Given the description of an element on the screen output the (x, y) to click on. 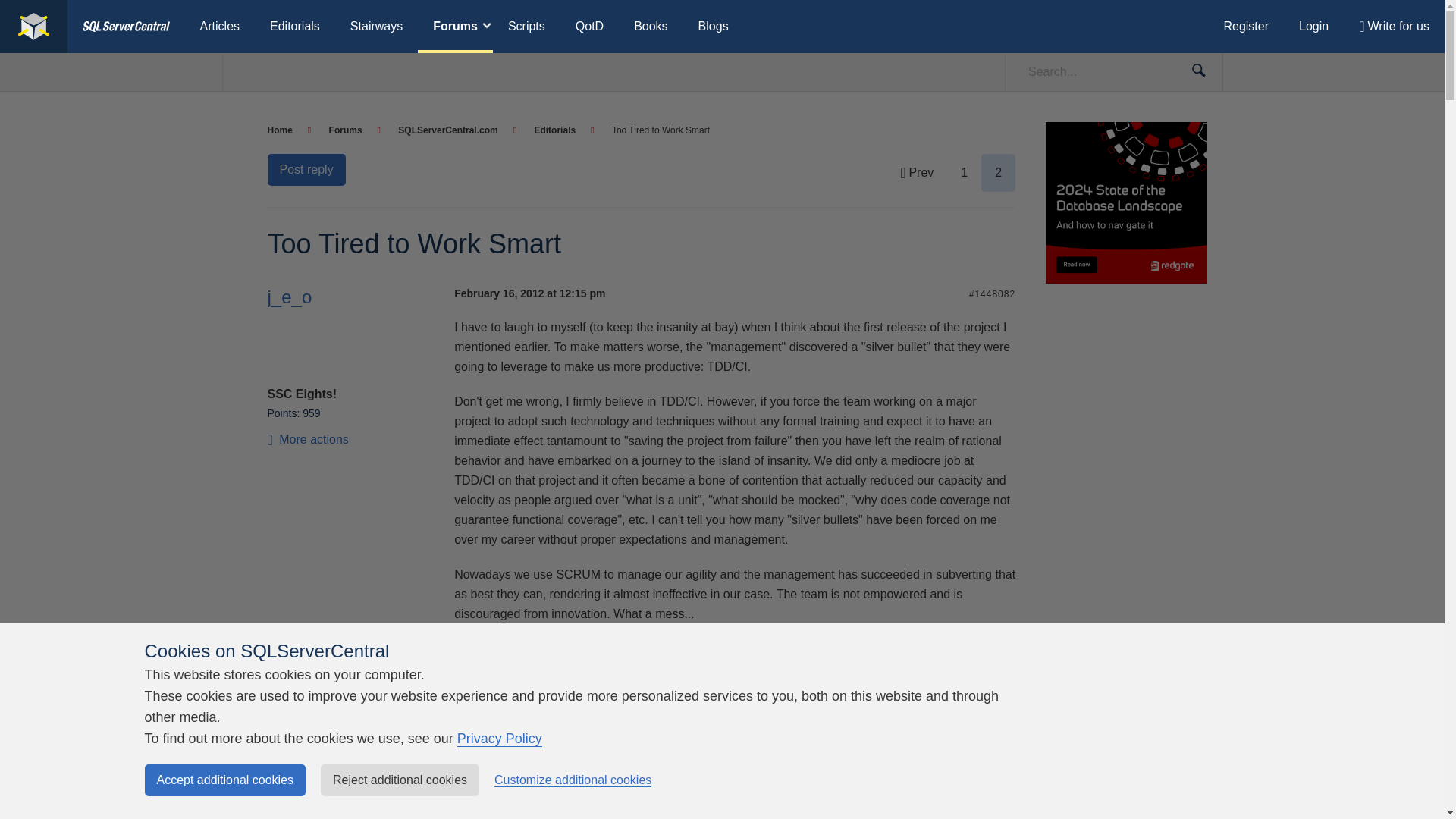
Forums (455, 26)
SQLServerCentral (126, 26)
Blogs (713, 26)
Scripts (526, 26)
Articles (219, 26)
Forums (354, 130)
Login (1313, 26)
QotD (589, 26)
Books (650, 26)
SQLServerCentral (33, 26)
Home (288, 130)
Stairways (375, 26)
Editorials (294, 26)
Register (1246, 26)
